Given the description of an element on the screen output the (x, y) to click on. 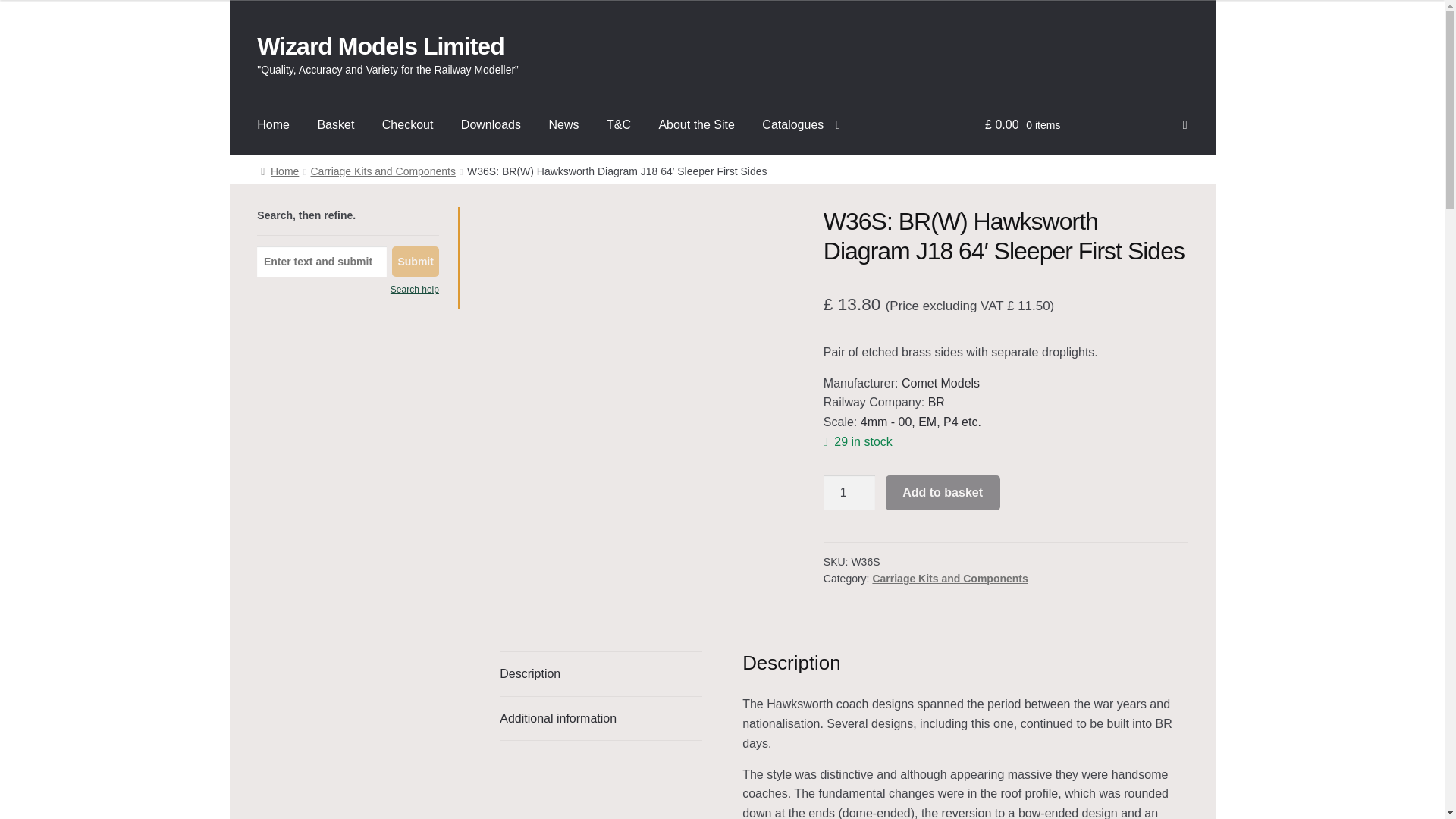
Downloads (490, 124)
News (563, 124)
Home (272, 124)
Carriage Kits and Components (382, 171)
Checkout (407, 124)
Catalogues (800, 124)
About the Site (696, 124)
Basket (335, 124)
Home (279, 171)
